Given the description of an element on the screen output the (x, y) to click on. 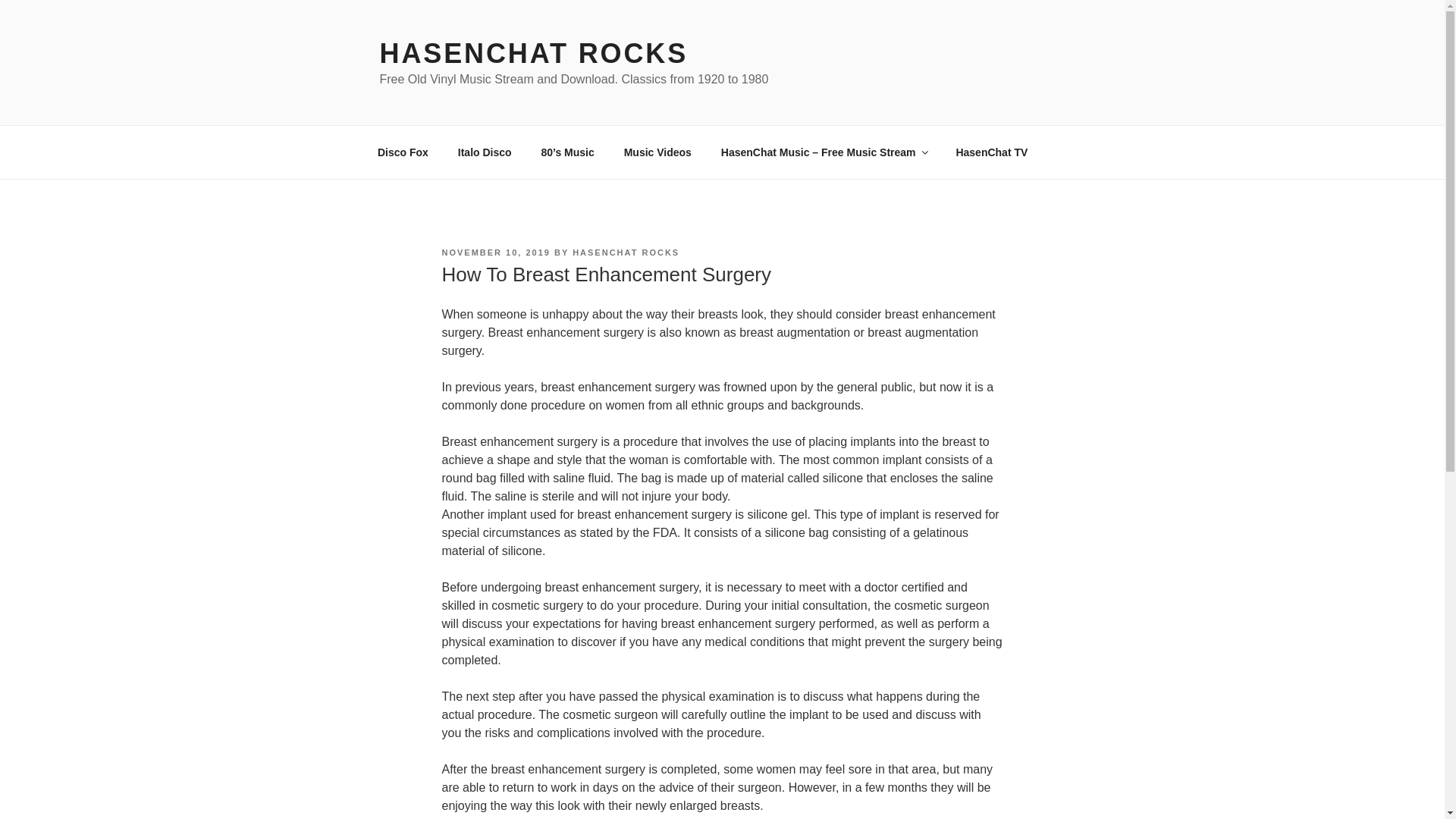
Music Videos (657, 151)
Italo Disco (484, 151)
HasenChat TV (991, 151)
Disco Fox (402, 151)
NOVEMBER 10, 2019 (495, 252)
HASENCHAT ROCKS (625, 252)
HASENCHAT ROCKS (532, 52)
